Given the description of an element on the screen output the (x, y) to click on. 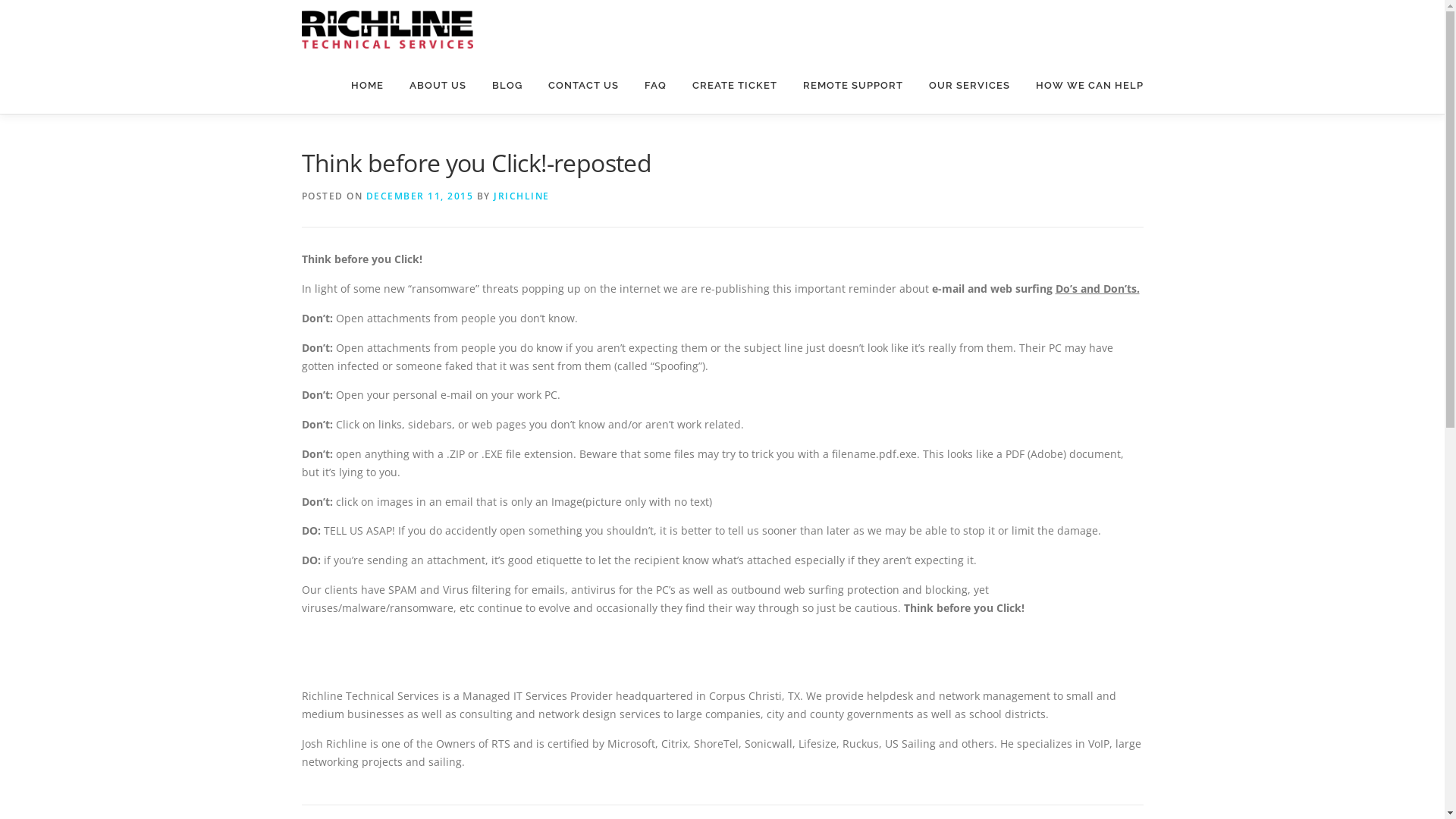
BLOG Element type: text (507, 84)
FAQ Element type: text (654, 84)
HOME Element type: text (367, 84)
CONTACT US Element type: text (583, 84)
JRICHLINE Element type: text (521, 195)
ABOUT US Element type: text (436, 84)
REMOTE SUPPORT Element type: text (853, 84)
DECEMBER 11, 2015 Element type: text (419, 195)
OUR SERVICES Element type: text (969, 84)
CREATE TICKET Element type: text (734, 84)
HOW WE CAN HELP Element type: text (1082, 84)
